Given the description of an element on the screen output the (x, y) to click on. 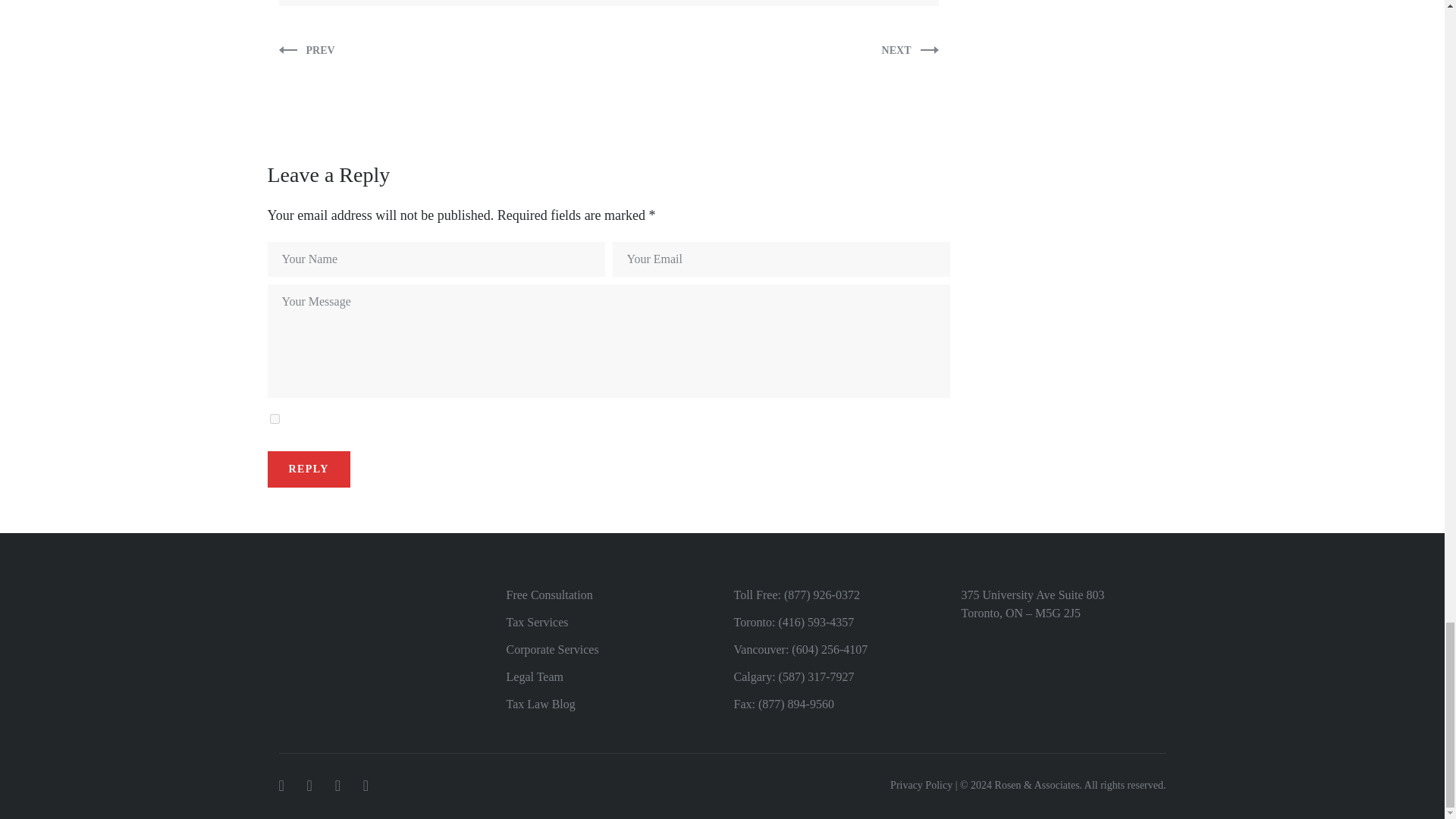
REPLY (307, 469)
yes (274, 419)
The Multigenerational Home Renovation Tax Credit (306, 50)
Your Email (781, 258)
Your Name (435, 258)
